Given the description of an element on the screen output the (x, y) to click on. 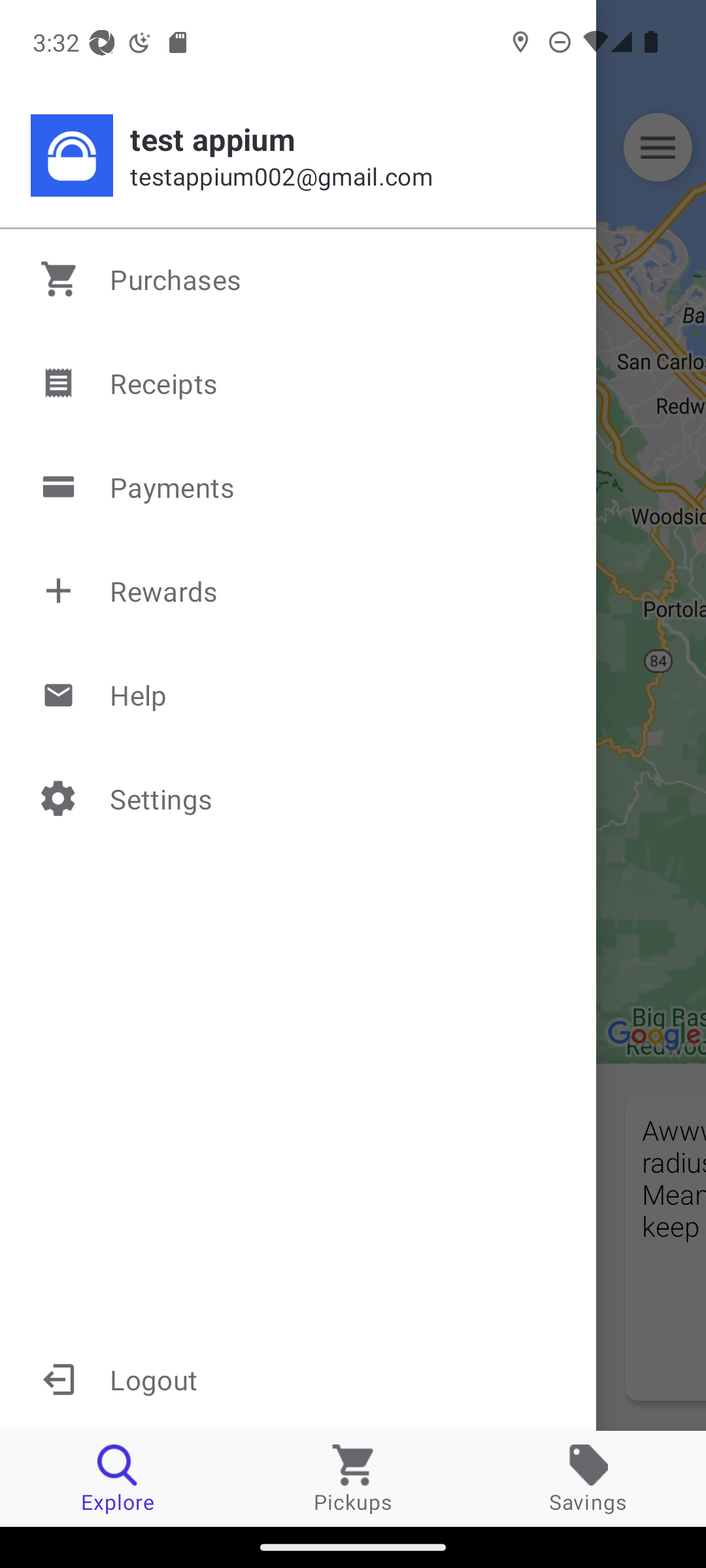
Purchases (299, 278)
Receipts (299, 382)
Payments (299, 487)
Rewards (299, 590)
Help (299, 694)
Settings (299, 797)
Logout (297, 1379)
Pickups (352, 1478)
Savings (588, 1478)
